Given the description of an element on the screen output the (x, y) to click on. 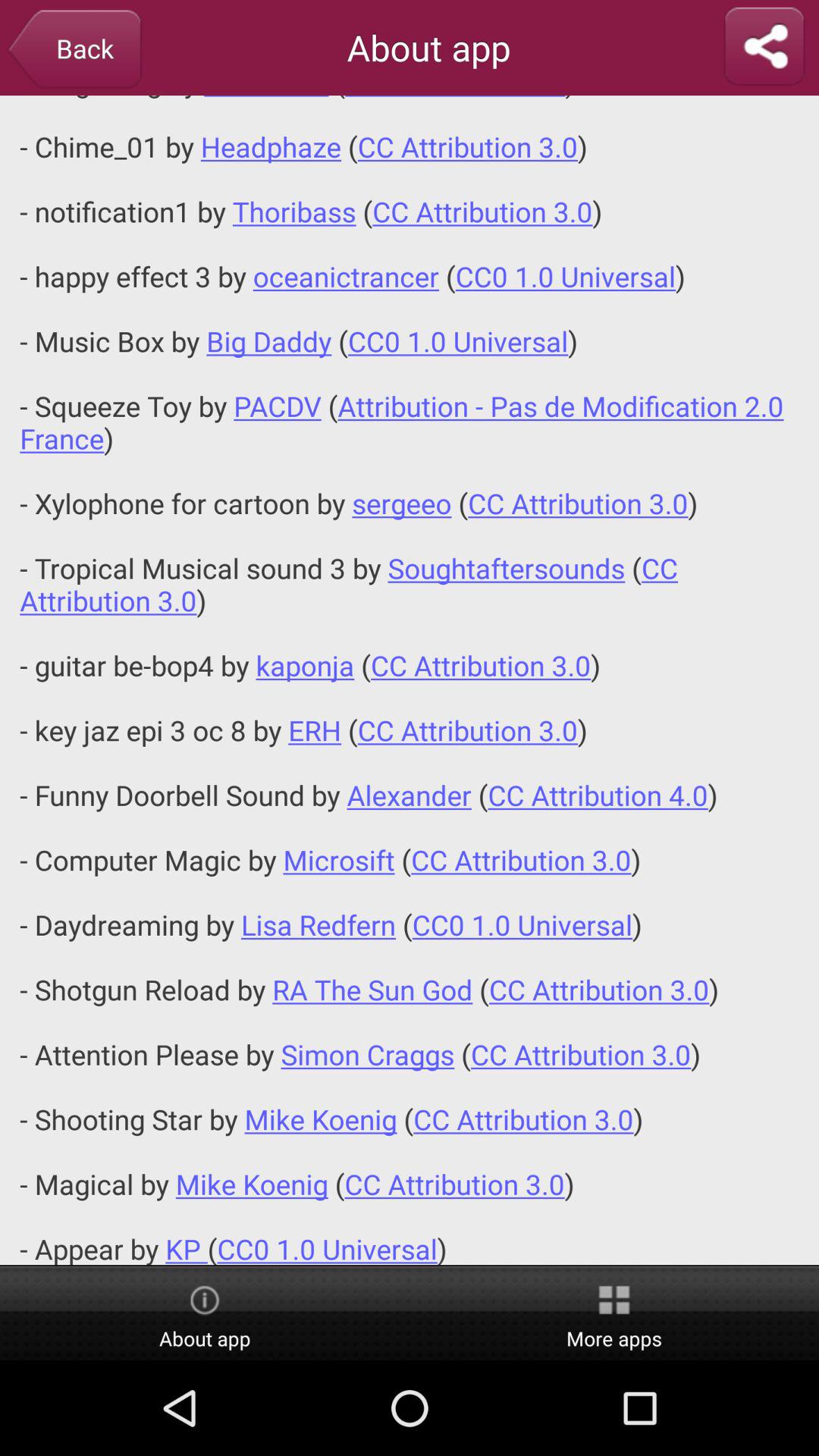
launch app below about app app (409, 679)
